Given the description of an element on the screen output the (x, y) to click on. 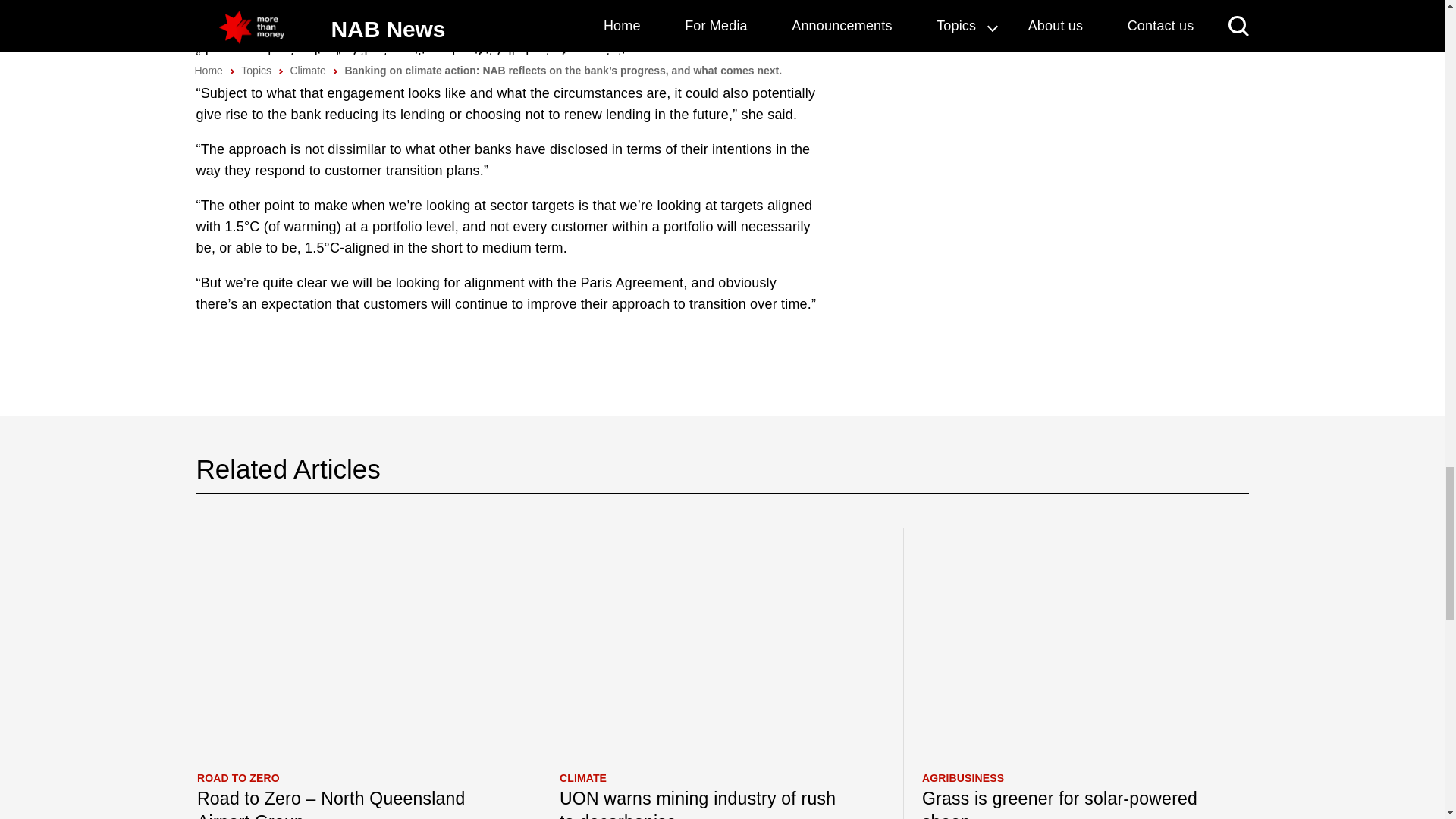
Grass is greener for solar-powered sheep (1068, 803)
UON warns mining industry of rush to decarbonise (706, 803)
